Given the description of an element on the screen output the (x, y) to click on. 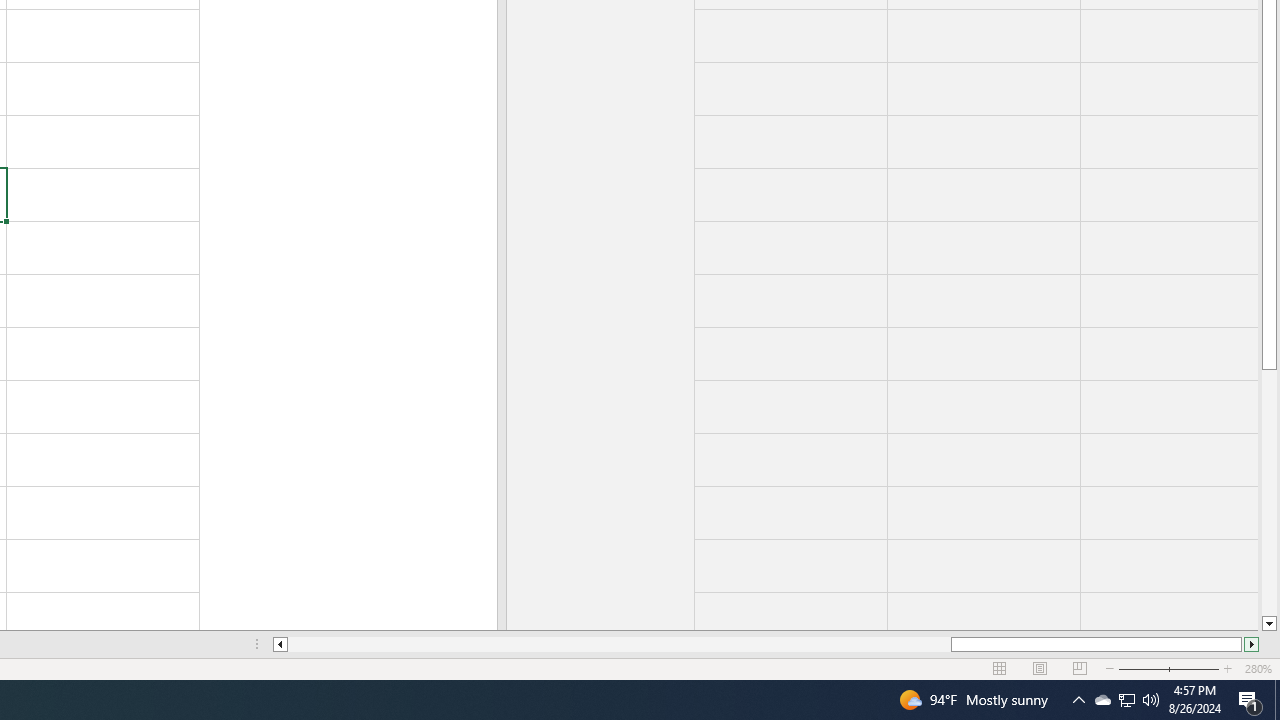
Page Layout (1039, 668)
Normal (1000, 668)
Page left (619, 644)
Class: NetUIScrollBar (765, 644)
Line down (1268, 624)
Column right (1252, 644)
Zoom In (1227, 668)
Page Break Preview (1079, 668)
Page down (1268, 493)
Zoom (1168, 668)
Column left (279, 644)
Zoom Out (1156, 668)
